Given the description of an element on the screen output the (x, y) to click on. 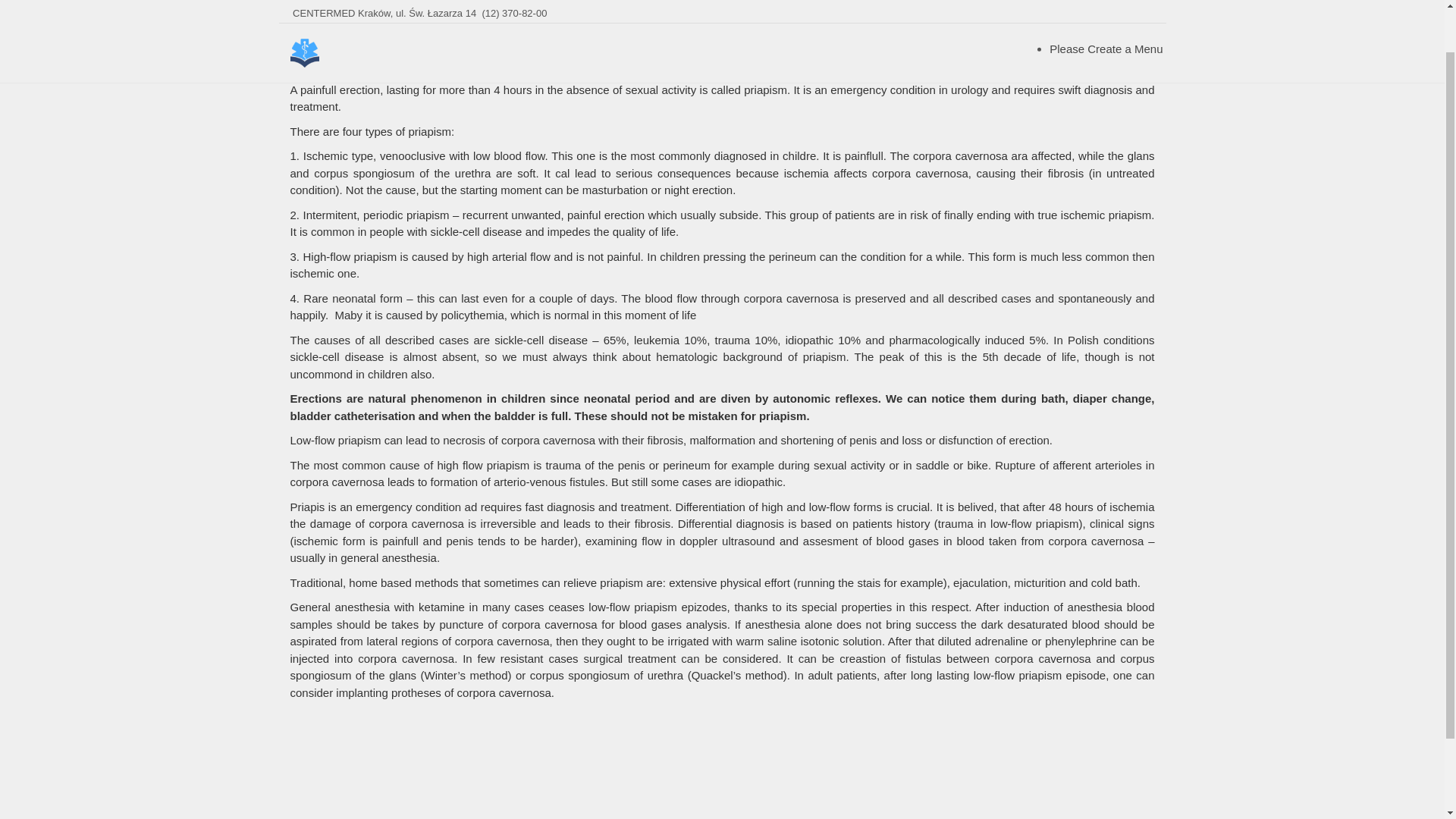
Please Create a Menu (1105, 2)
